Given the description of an element on the screen output the (x, y) to click on. 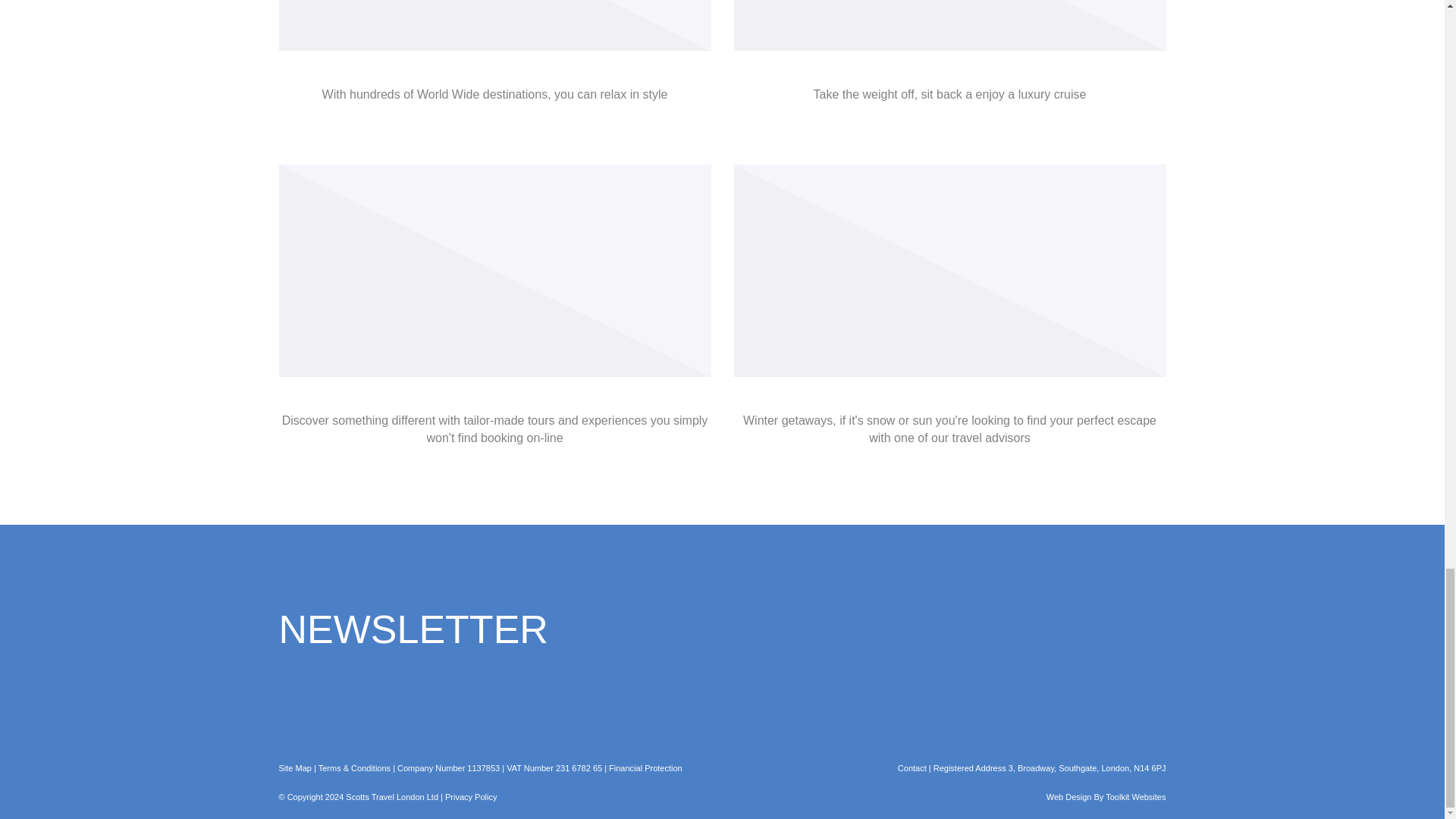
Privacy Policy (470, 796)
Contact (912, 768)
Site Map (295, 768)
Financial Protection (645, 768)
Toolkit Websites (1135, 796)
